Given the description of an element on the screen output the (x, y) to click on. 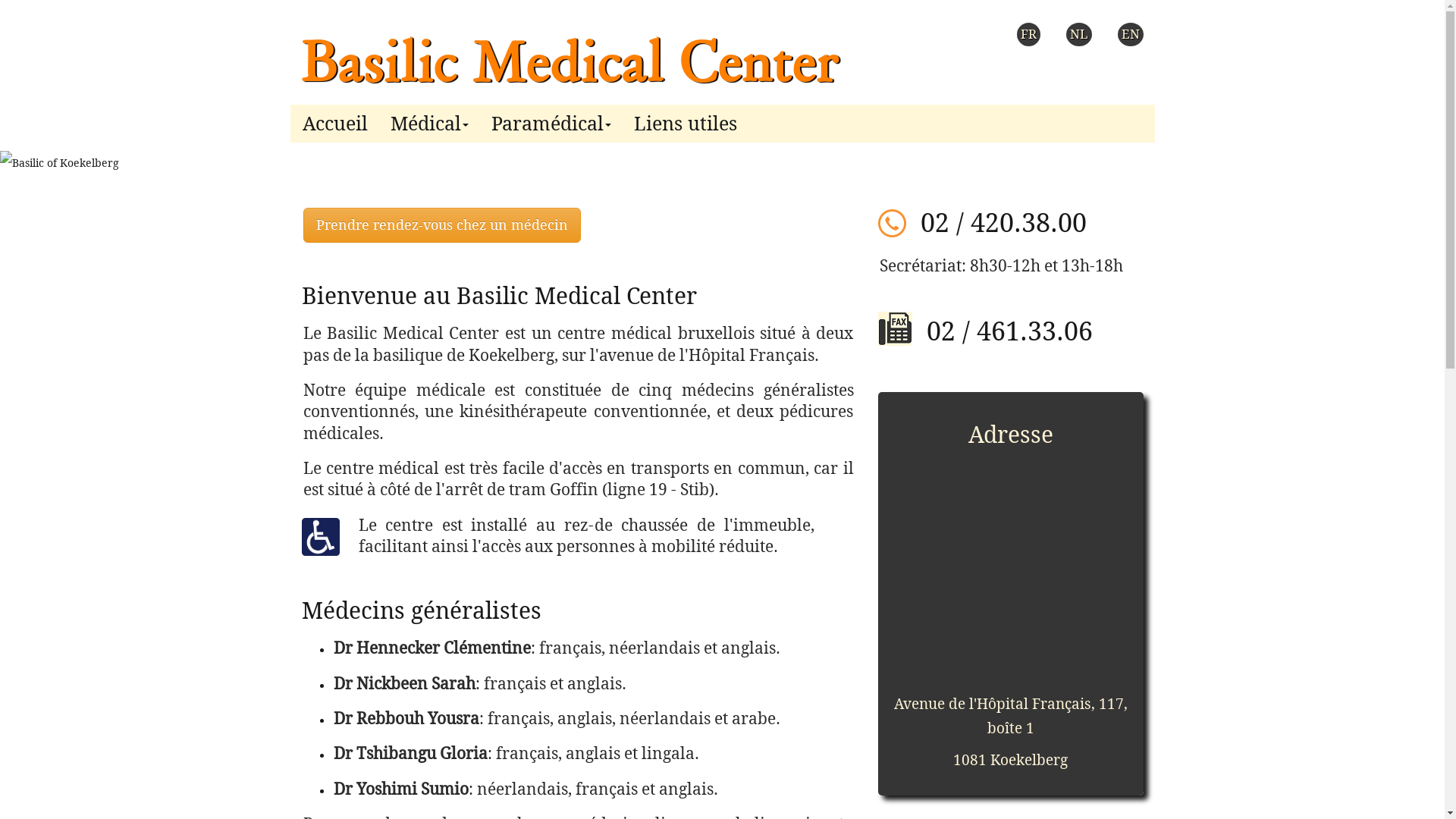
NL Element type: text (1079, 34)
Liens utiles Element type: text (684, 119)
EN Element type: text (1130, 34)
Accueil Element type: text (335, 119)
FR Element type: text (1027, 34)
